Given the description of an element on the screen output the (x, y) to click on. 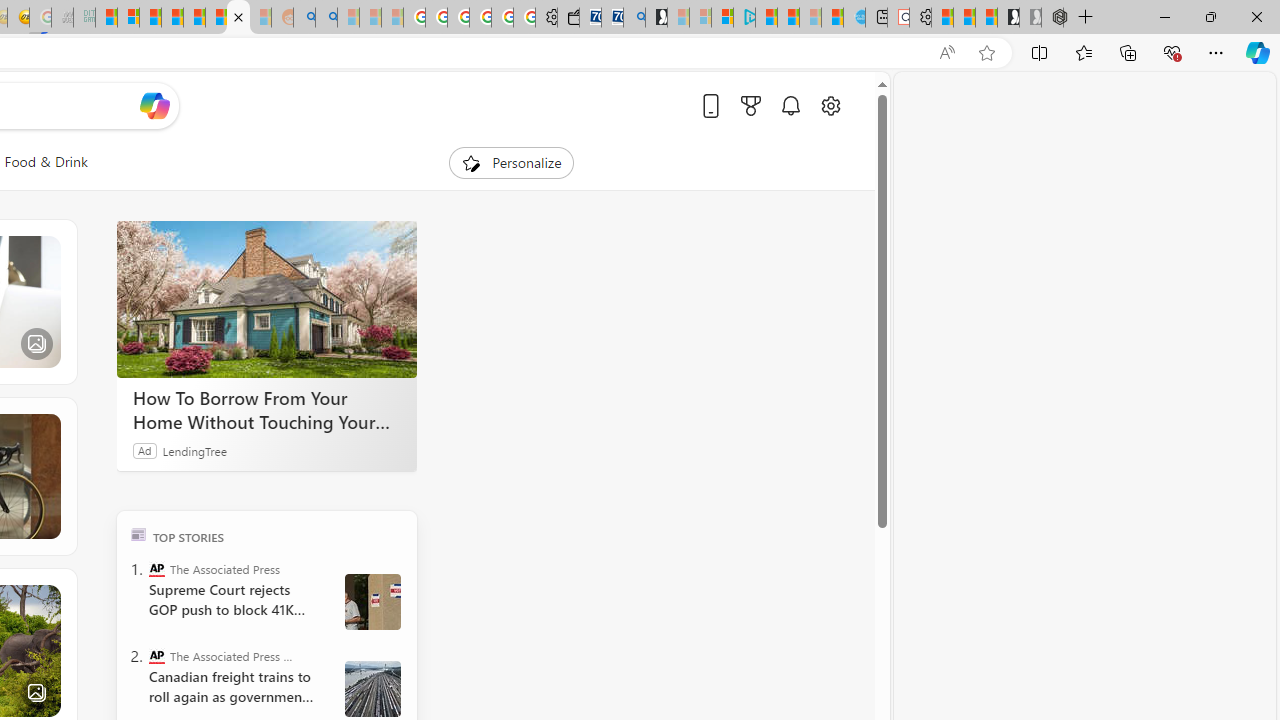
Notifications (790, 105)
Wallet (568, 17)
Play Free Online Games | Games from Microsoft Start (1008, 17)
Open Copilot (155, 105)
Navy Quest (62, 17)
Ad (145, 450)
TOP (138, 534)
Nordace - Nordace Siena Is Not An Ordinary Backpack (1052, 17)
